Given the description of an element on the screen output the (x, y) to click on. 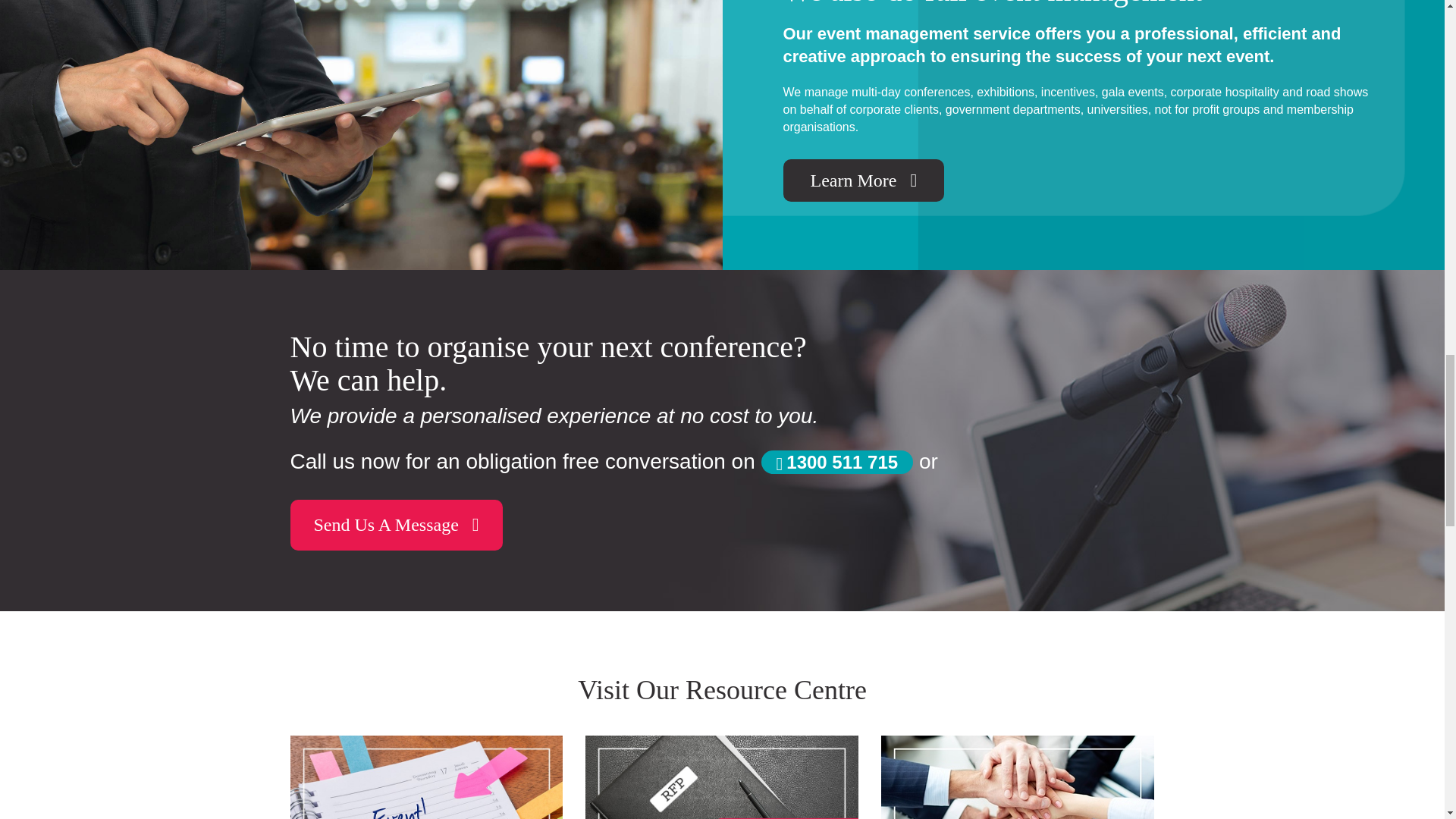
Send Us A Message (395, 524)
Learn More (863, 179)
